Given the description of an element on the screen output the (x, y) to click on. 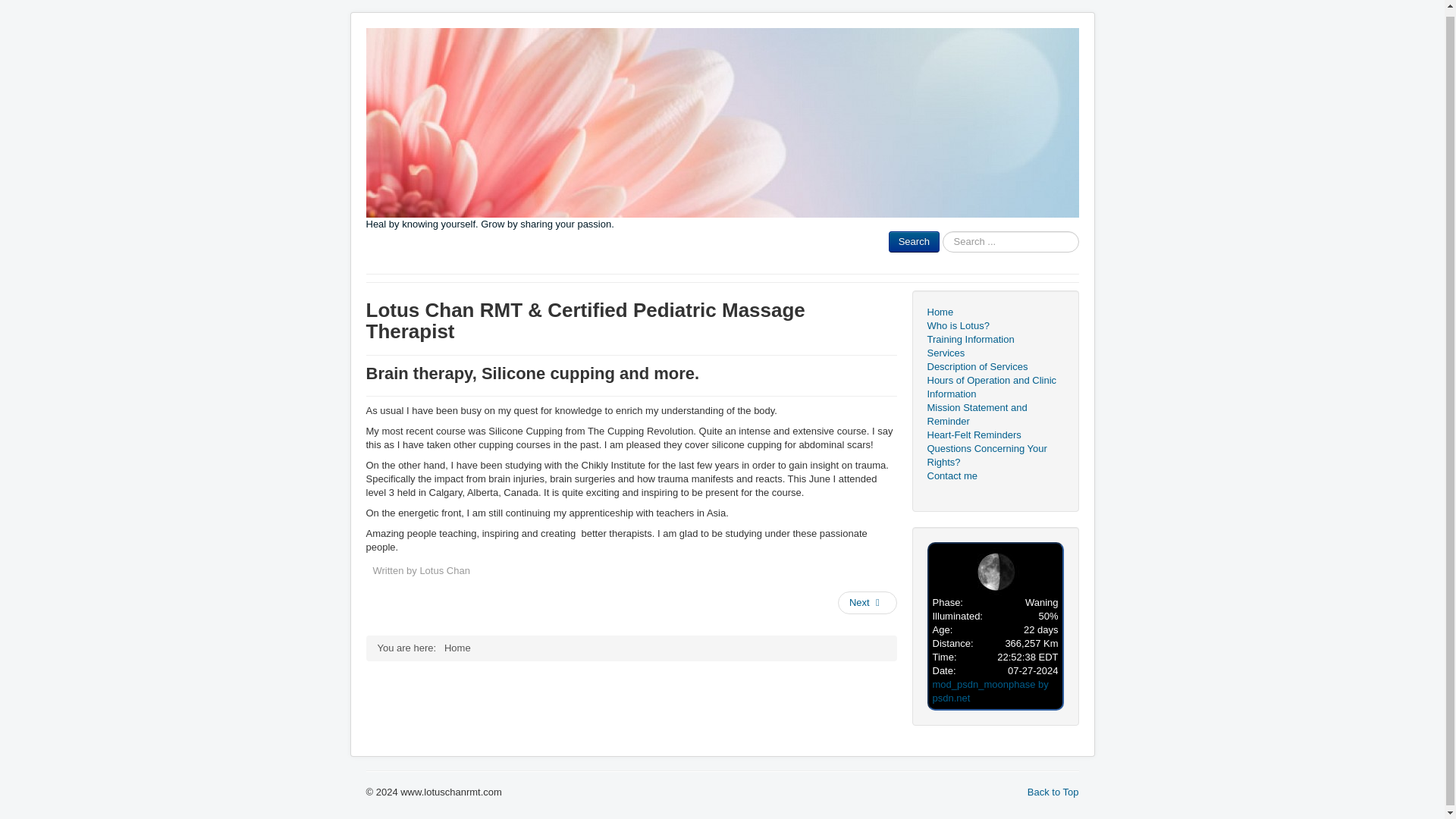
Questions Concerning Your Rights? (994, 455)
Next (867, 602)
Home (994, 312)
Who is Lotus? (994, 325)
Heart-Felt Reminders (994, 435)
Hours of Operation and Clinic Information (994, 387)
Training Information (994, 339)
Contact me (994, 476)
Mission Statement and Reminder (994, 414)
Description of Services (994, 366)
Services (994, 353)
Search (913, 241)
Back to Top (1052, 791)
